Given the description of an element on the screen output the (x, y) to click on. 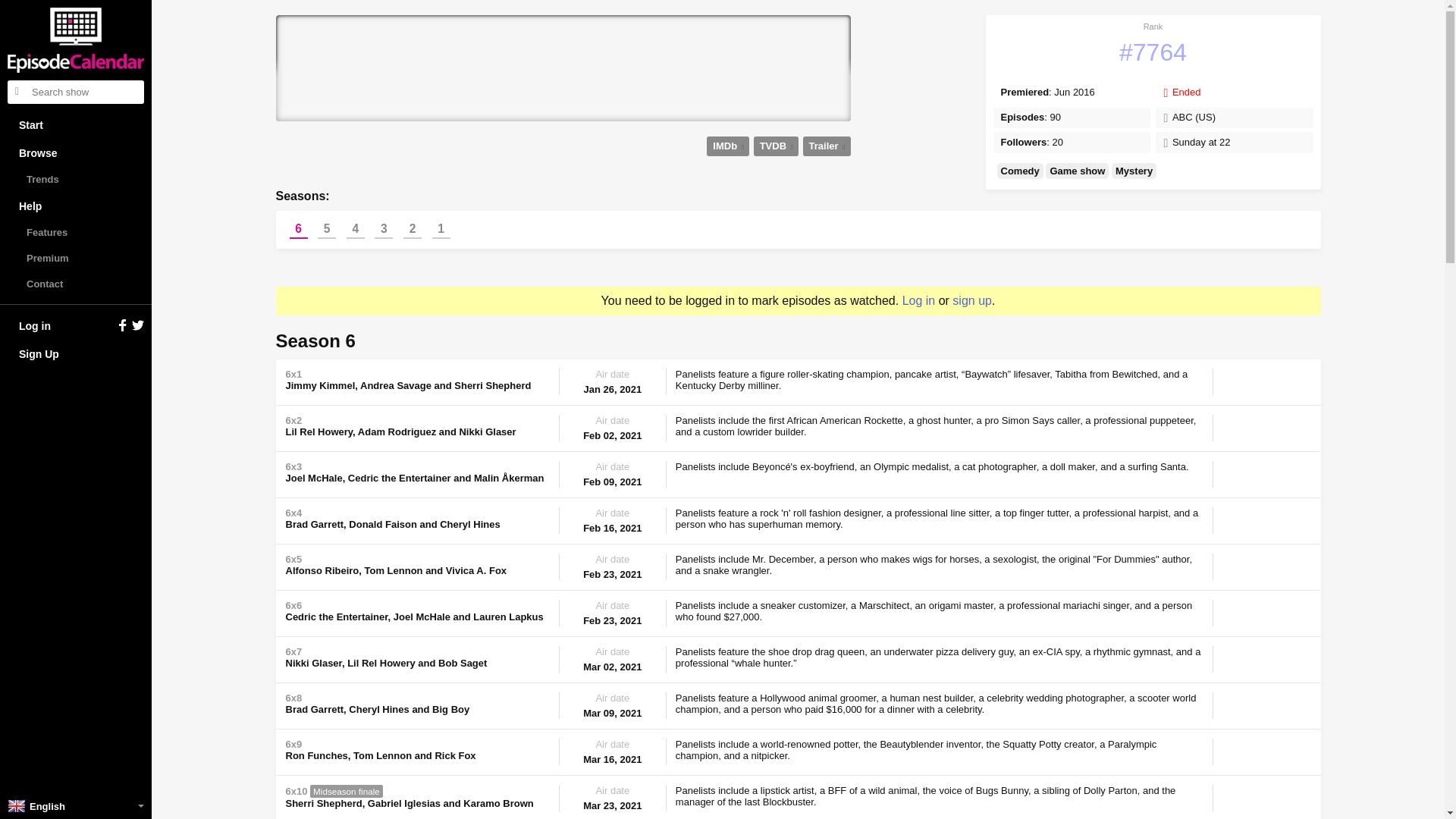
Start (75, 124)
3 (383, 229)
Trends (75, 179)
Contact (75, 283)
1 (440, 229)
Help (75, 206)
6 (298, 229)
Trailer (826, 146)
TVDB (775, 146)
Sign Up (75, 353)
IMDb (727, 146)
2 (412, 229)
4 (355, 229)
Premium (75, 258)
Log in (75, 325)
